Given the description of an element on the screen output the (x, y) to click on. 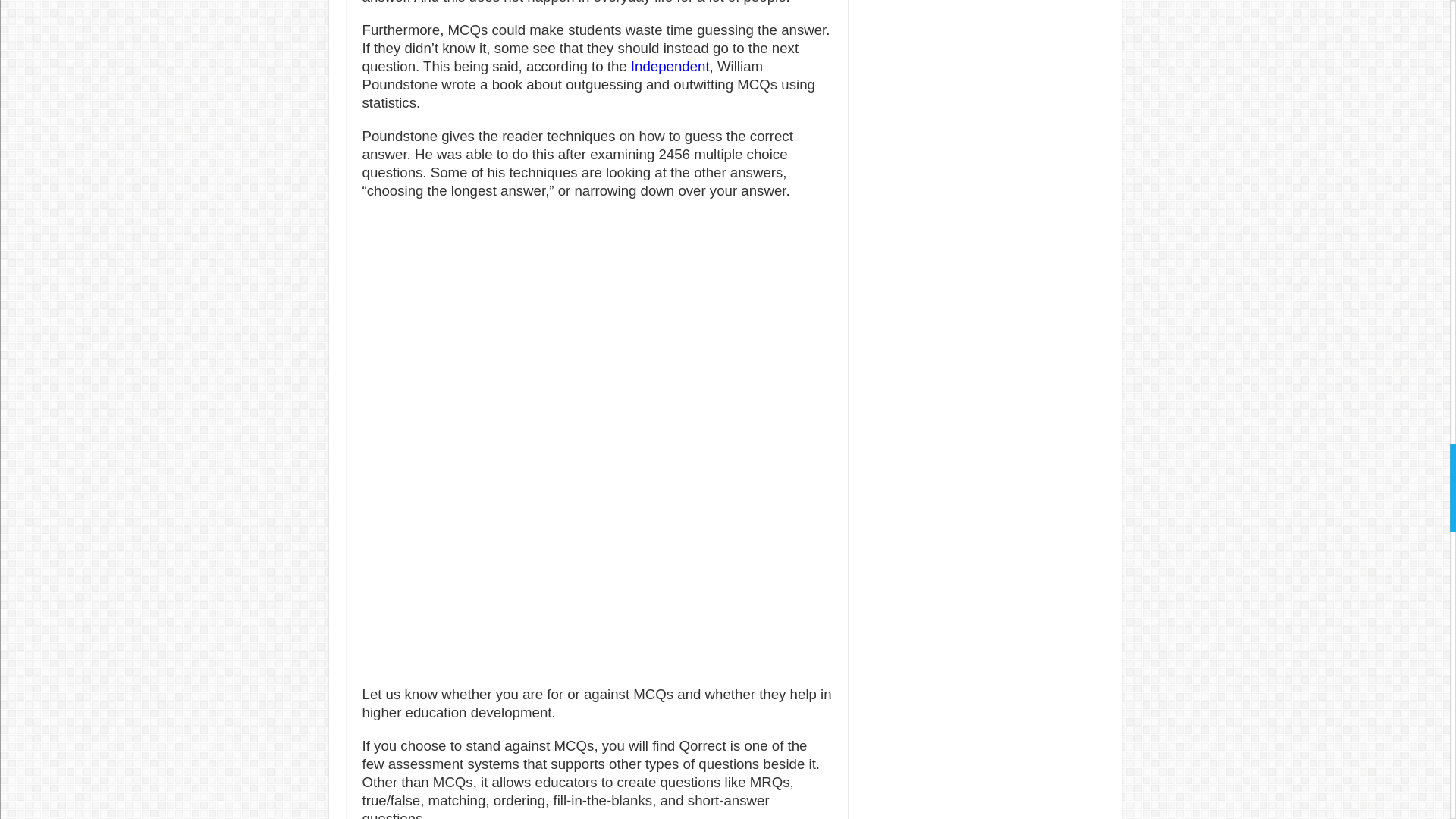
Independent (670, 65)
